Given the description of an element on the screen output the (x, y) to click on. 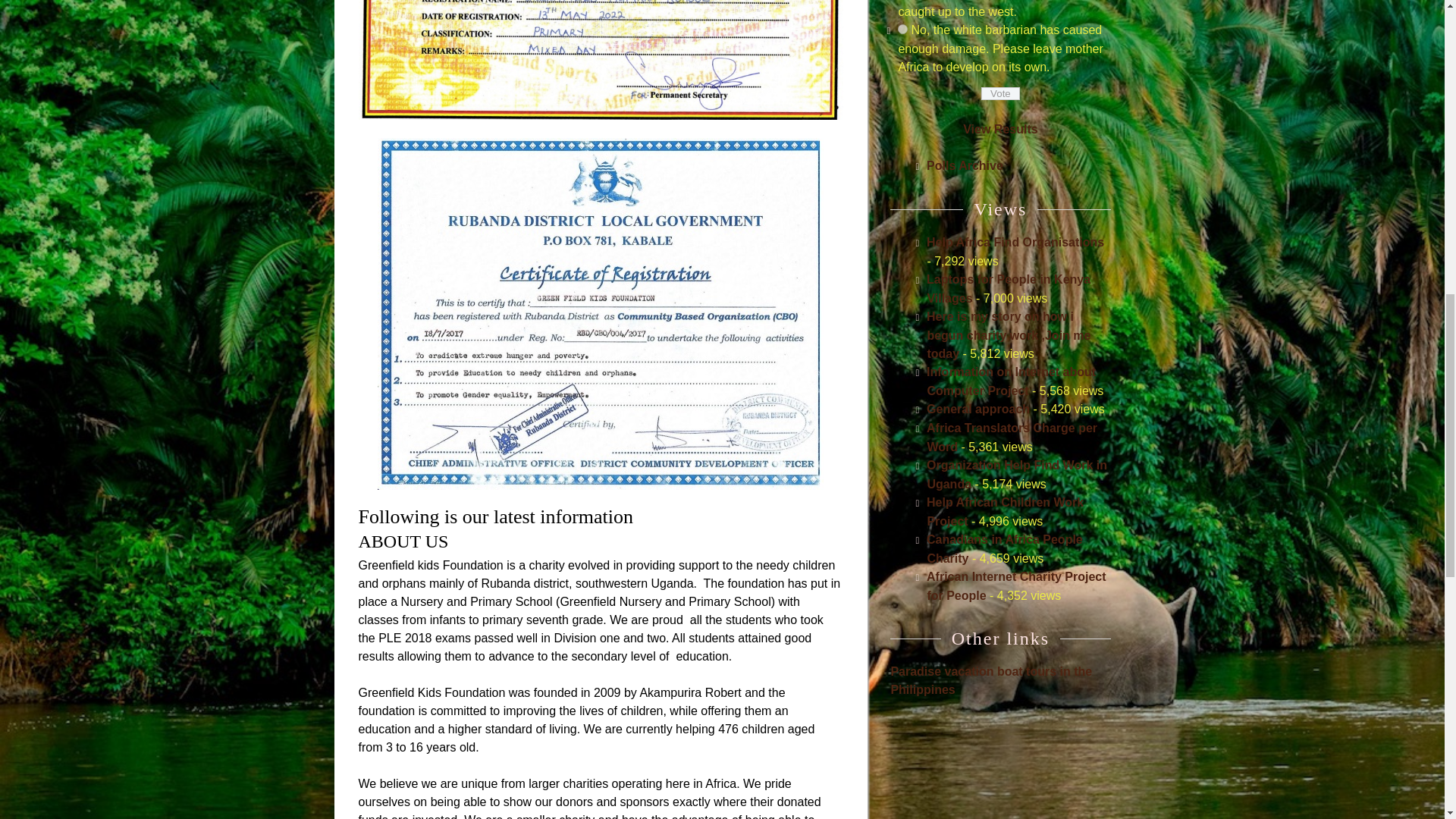
Here is my story on how i begun charity work ,Join me today (1008, 335)
Organization Help Find Work in Uganda (1016, 474)
General approach (977, 408)
African Internet Charity Project for People (1016, 585)
Africa Translators Charge per Word (1011, 437)
Information on Internet about Computer Project (1011, 381)
Here is my story on how i begun charity work ,Join me today (1008, 335)
Help Africa Find Organisations (1014, 241)
View Results Of This Poll (999, 128)
View Results (999, 128)
Information on Internet about Computer Project (1011, 381)
Organization Help Find Work in Uganda (1016, 474)
Help Africa Find Organisations (1014, 241)
Canadians in Africa People Charity (1004, 549)
   Vote    (1000, 92)
